Given the description of an element on the screen output the (x, y) to click on. 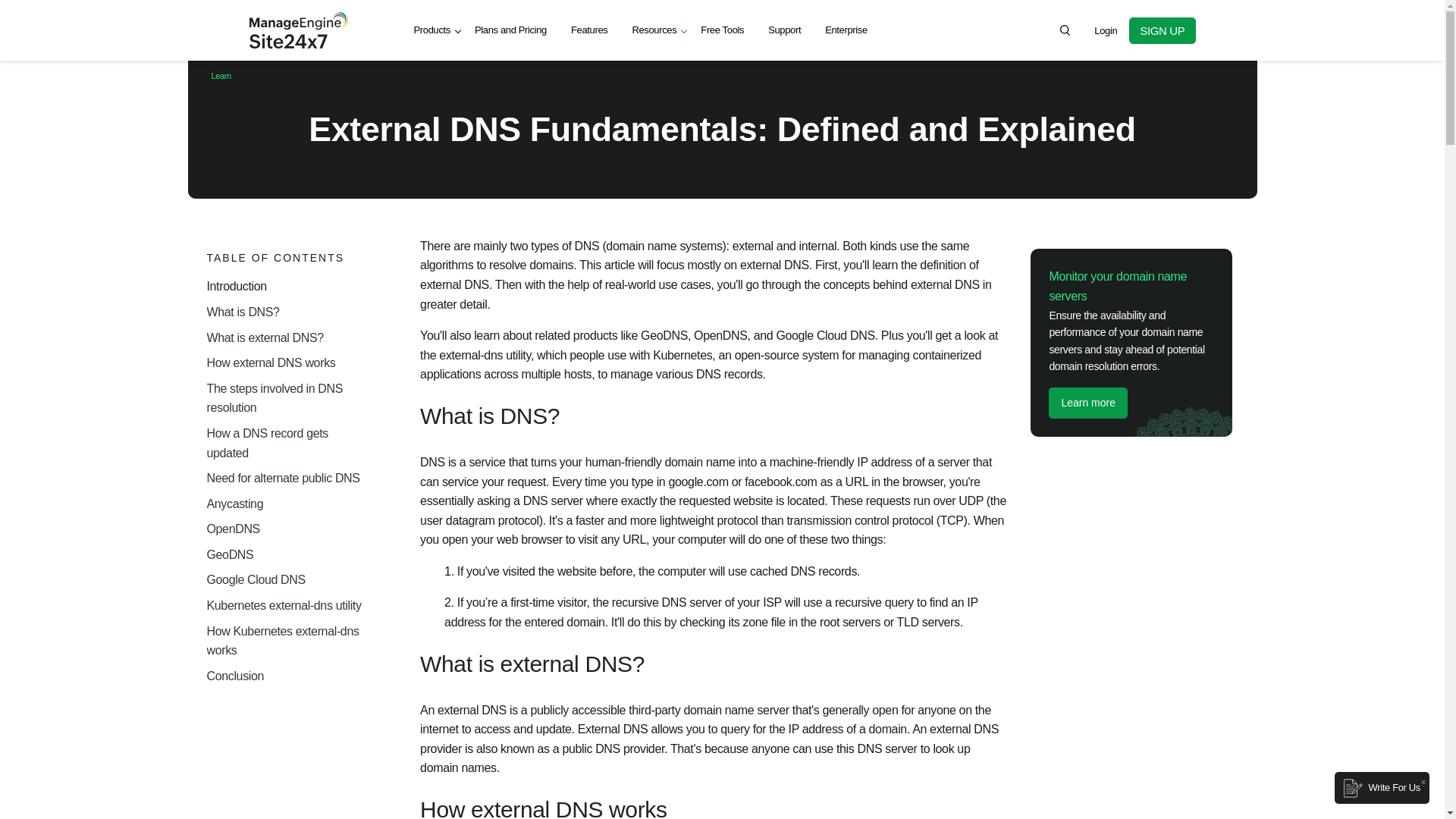
Introduction (286, 286)
Support (783, 29)
Login (1105, 29)
Features (589, 29)
Enterprise (845, 29)
Resources (654, 29)
Products (432, 29)
Learn (220, 75)
Login (1105, 29)
Plans and Pricing (511, 29)
